Given the description of an element on the screen output the (x, y) to click on. 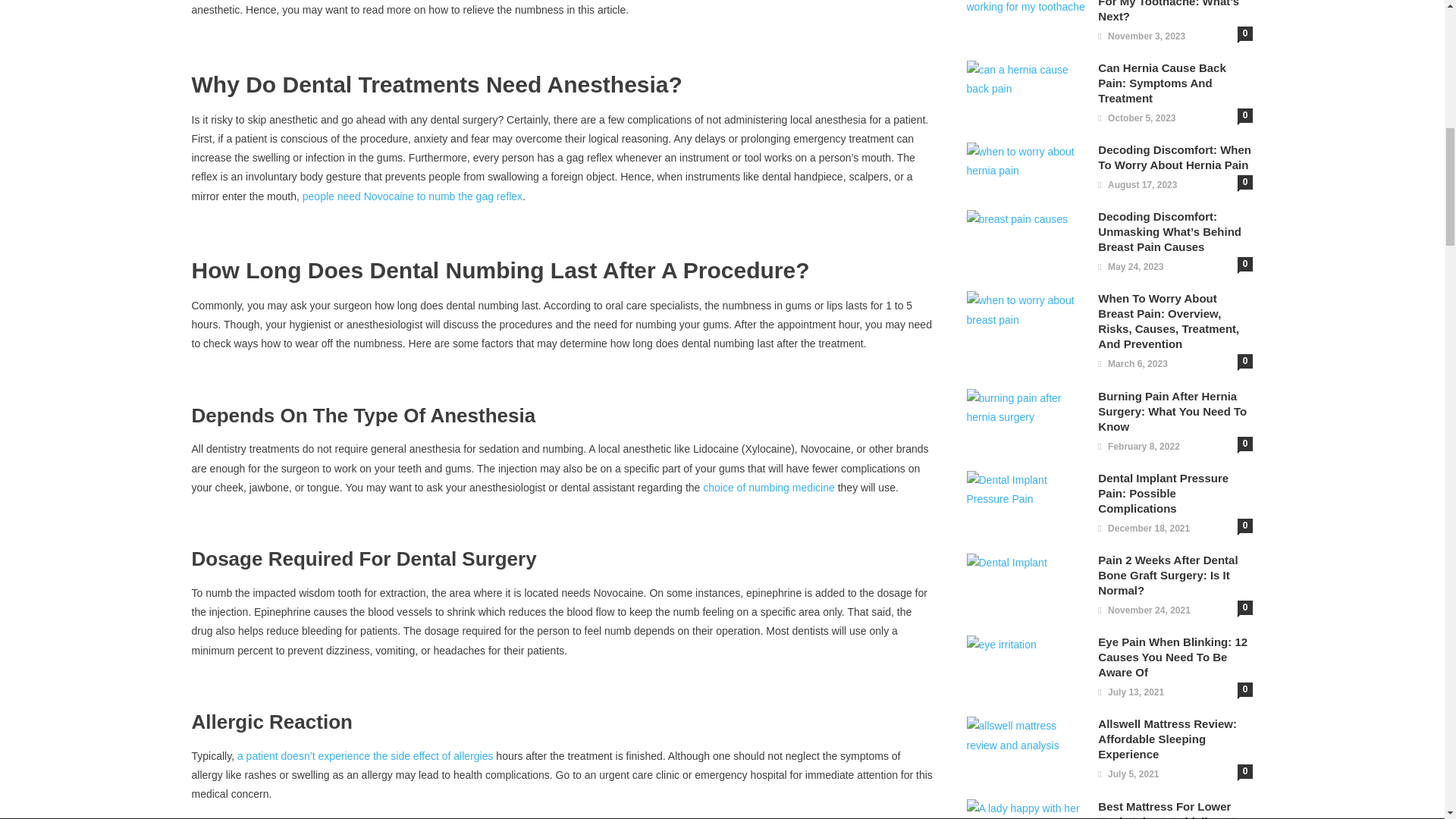
people need Novocaine to numb the gag reflex (412, 196)
choice of numbing medicine (768, 487)
